Given the description of an element on the screen output the (x, y) to click on. 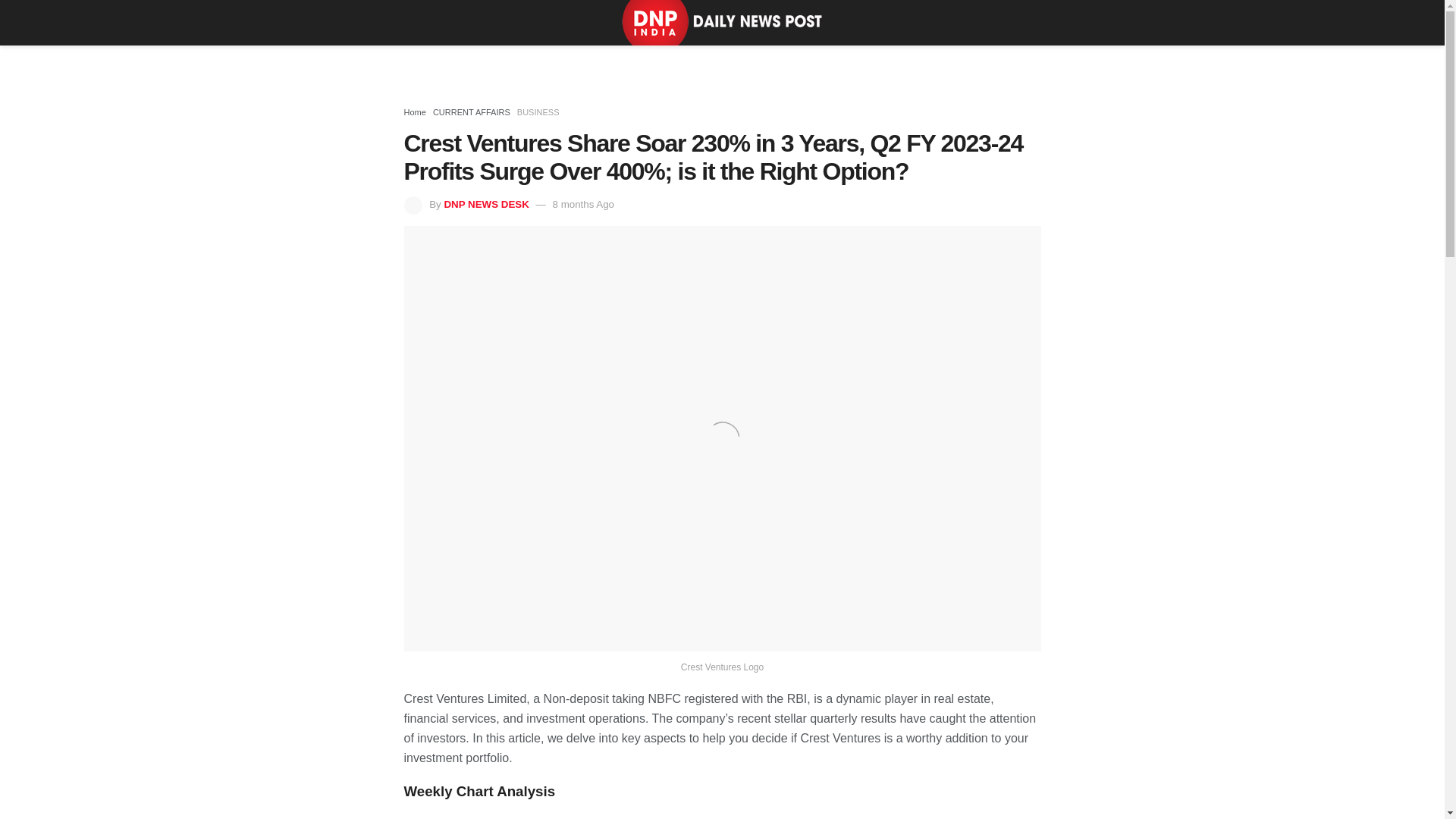
Home (414, 112)
DNP NEWS DESK (486, 204)
CURRENT AFFAIRS (471, 112)
3rd party ad content (721, 64)
BUSINESS (537, 112)
